Given the description of an element on the screen output the (x, y) to click on. 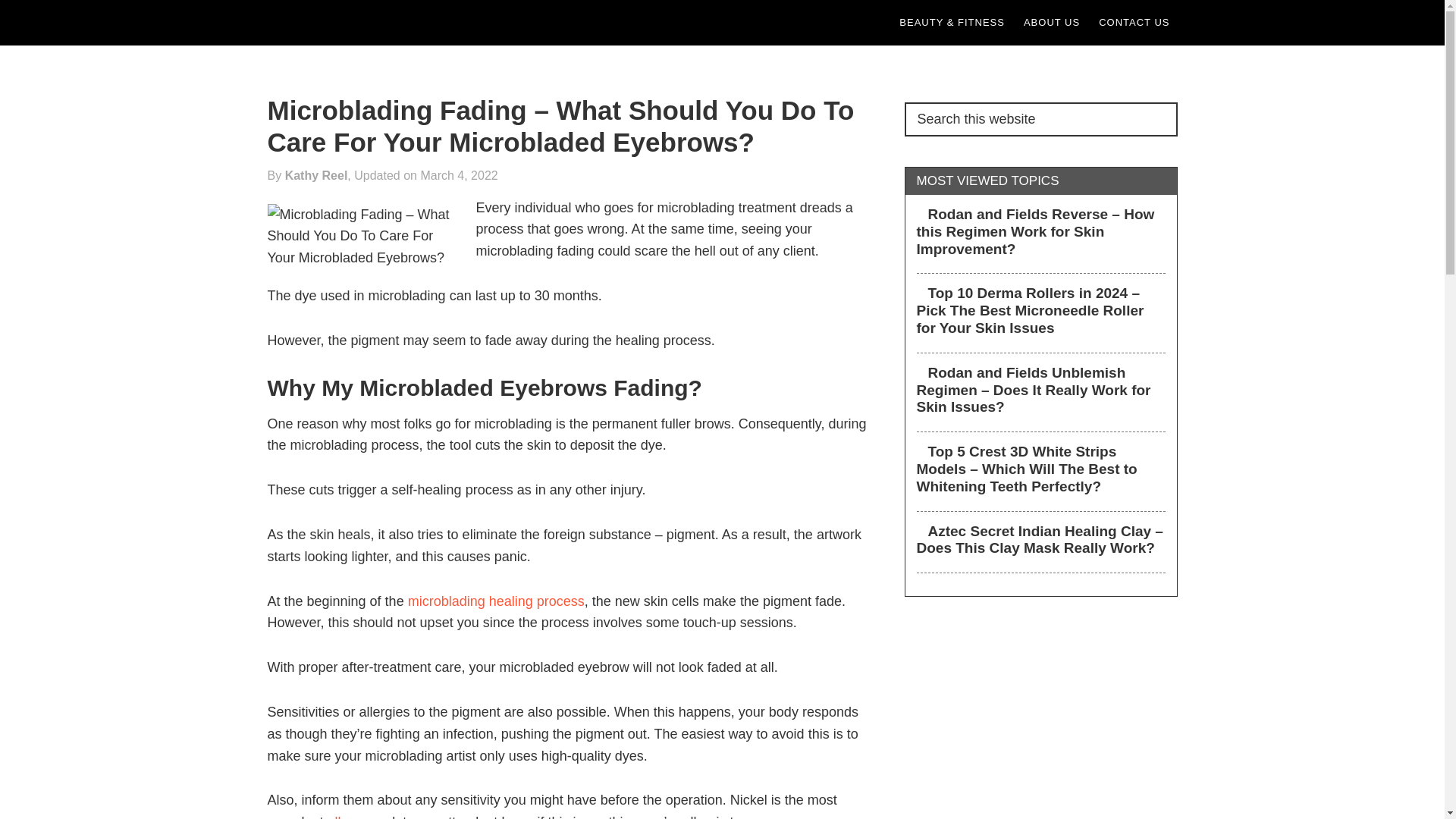
Glamor Wand (353, 22)
ABOUT US (1051, 22)
microblading healing process (496, 601)
CONTACT US (1133, 22)
allergy (346, 816)
